Given the description of an element on the screen output the (x, y) to click on. 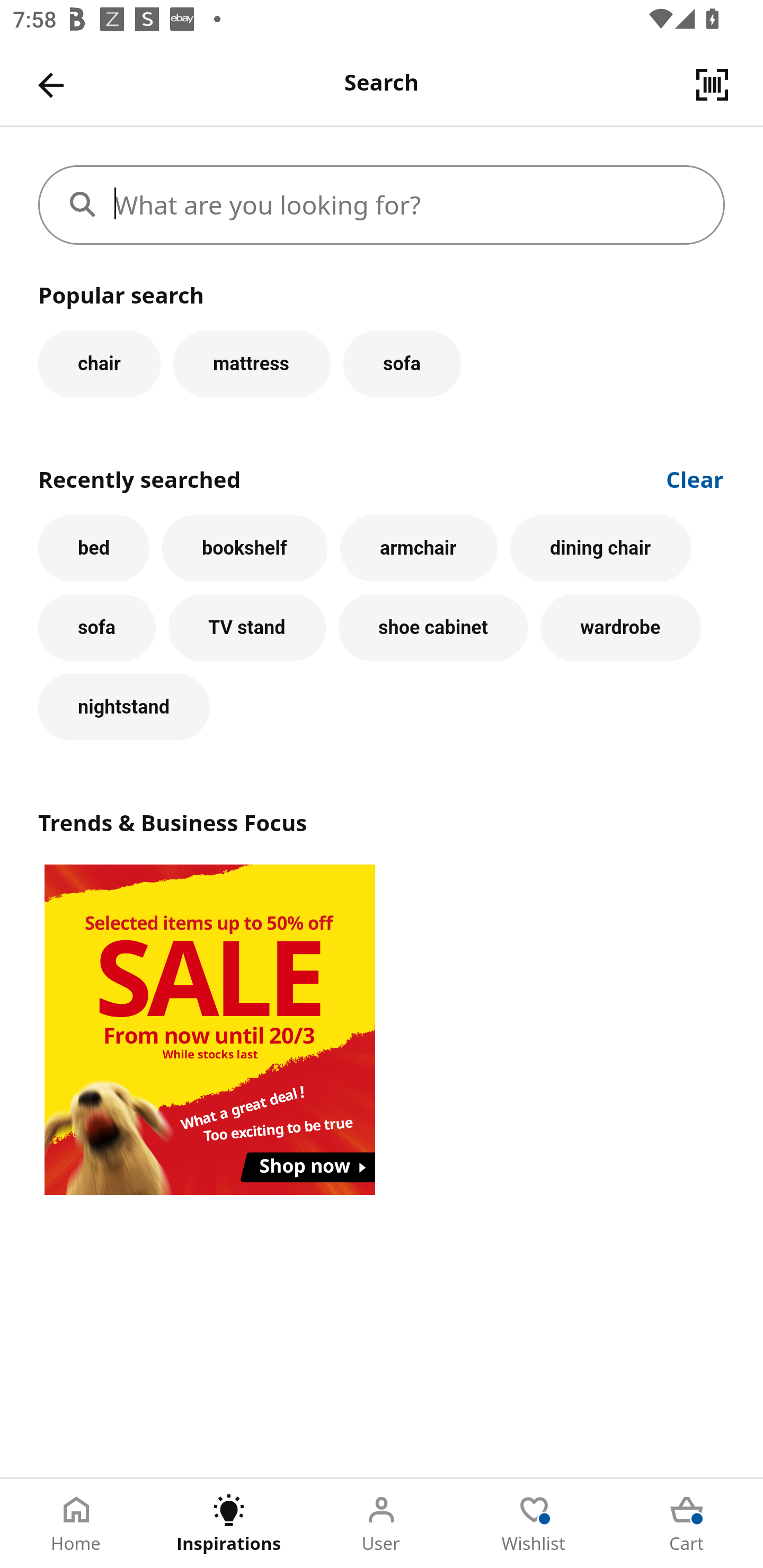
chair (99, 363)
mattress (251, 363)
sofa (401, 363)
Clear (695, 477)
bed (93, 547)
bookshelf (244, 547)
armchair (418, 547)
dining chair (600, 547)
sofa (96, 627)
TV stand (246, 627)
shoe cabinet (432, 627)
wardrobe (620, 627)
nightstand (123, 707)
Home
Tab 1 of 5 (76, 1522)
Inspirations
Tab 2 of 5 (228, 1522)
User
Tab 3 of 5 (381, 1522)
Wishlist
Tab 4 of 5 (533, 1522)
Cart
Tab 5 of 5 (686, 1522)
